Given the description of an element on the screen output the (x, y) to click on. 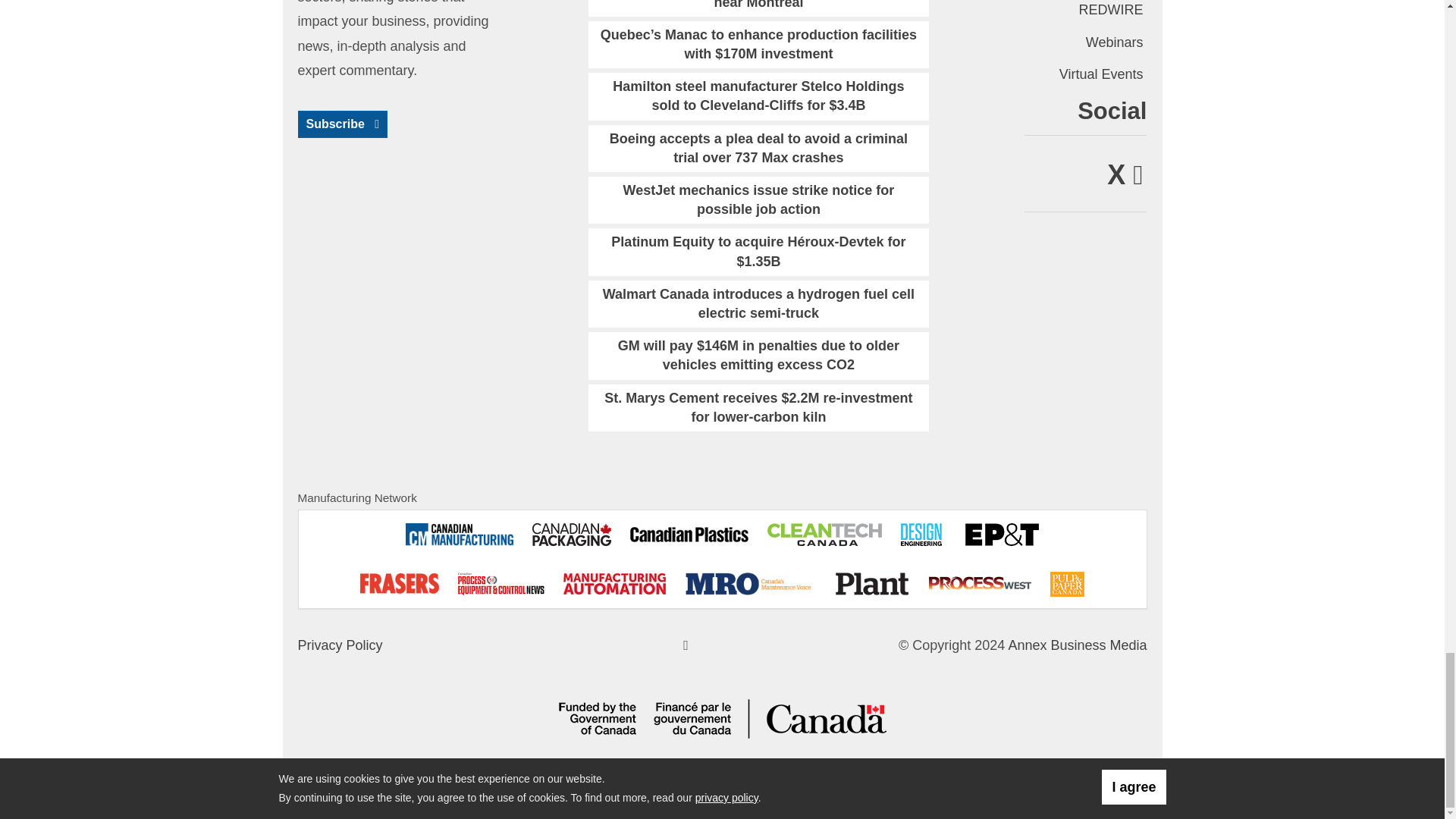
Annex Business Media (1077, 645)
scroll to top (685, 645)
